Given the description of an element on the screen output the (x, y) to click on. 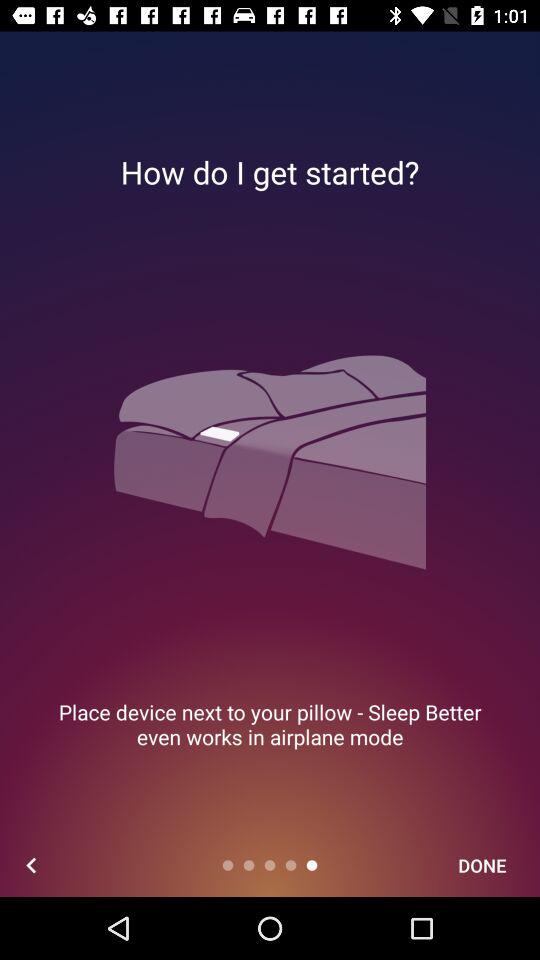
scroll to done (482, 864)
